Given the description of an element on the screen output the (x, y) to click on. 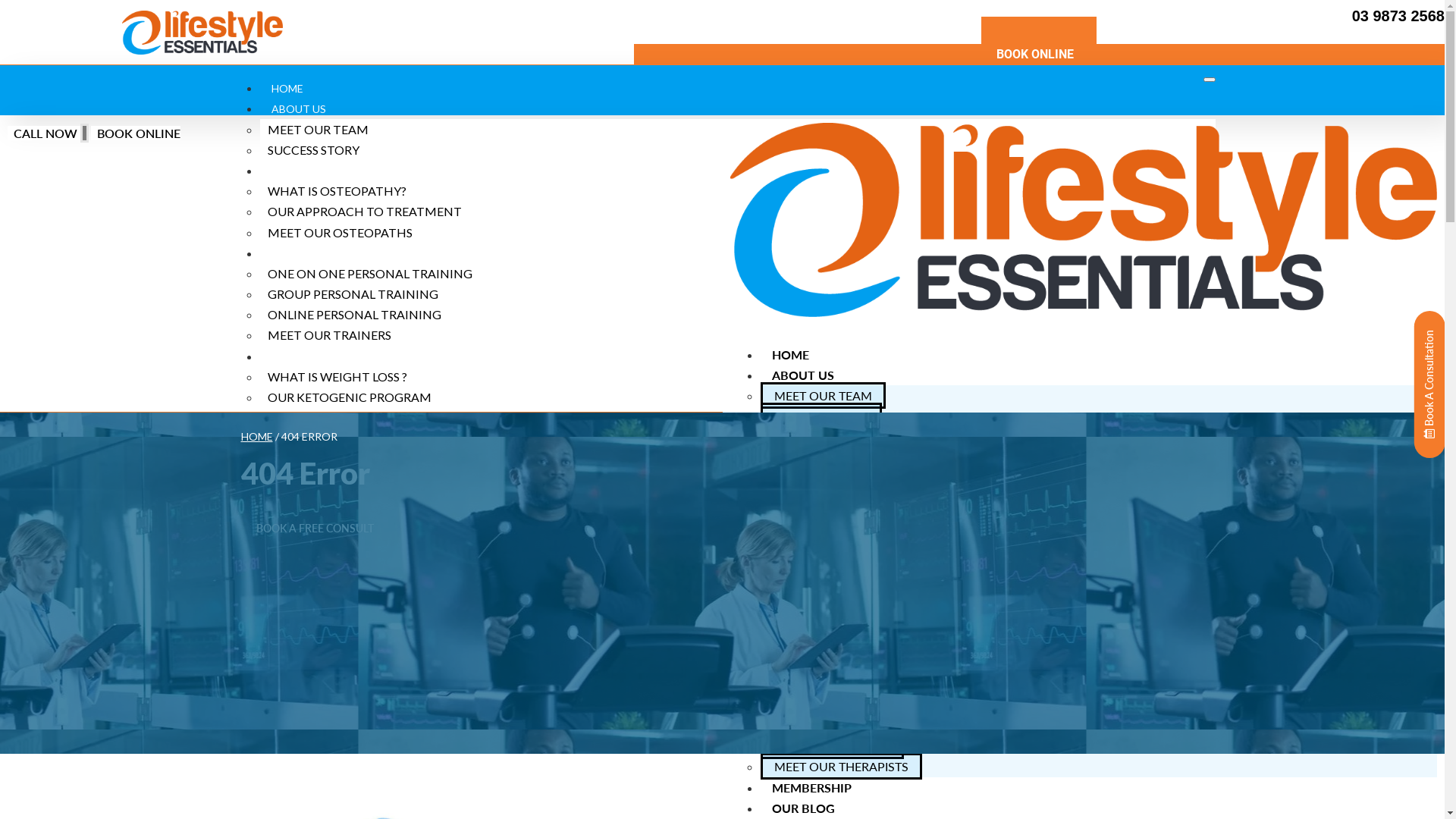
X Element type: text (238, 617)
OUR APPROACH TO TREATMENT Element type: text (866, 477)
ONLINE PERSONAL TRAINING Element type: text (353, 314)
GROUP PERSONAL TRAINING Element type: text (352, 293)
MEET OUR TEAM Element type: text (821, 395)
ONLINE PERSONAL TRAINING Element type: text (857, 580)
BOOK ONLINE Element type: text (135, 132)
MEET OUR TEAM Element type: text (317, 129)
SUCCESS STORY Element type: text (820, 415)
TYPES OF MASSAGE Element type: text (831, 745)
OUR APPROACH TO TREATMENT Element type: text (363, 210)
CALL NOW Element type: text (43, 132)
BOOK A FREE CONSULT Element type: text (318, 528)
BOOK ONLINE Element type: text (1038, 53)
OUR BLOG Element type: text (297, 541)
WHAT IS OSTEOPATHY? Element type: text (840, 457)
ABOUT US Element type: text (305, 108)
WHAT IS REMEDIAL MASSAGE Element type: text (352, 458)
ONE ON ONE PERSONAL TRAINING Element type: text (873, 539)
MEET OUR TRAINERS Element type: text (328, 334)
Book A Consultation Element type: text (1429, 384)
HOME Element type: text (789, 354)
WHAT IS WEIGHT LOSS ? Element type: text (843, 642)
MEMBERSHIP Element type: text (810, 787)
MEET OUR THERAPISTS Element type: text (840, 766)
SUCCESS STORY Element type: text (312, 149)
WEIGHT LOSS Element type: text (817, 622)
PERSONAL TRAINING Element type: text (333, 253)
GENETIC WEIGHT LOSS PROGRAM Element type: text (366, 417)
HOME Element type: text (286, 88)
MEET OUR OSTEOPATHS Element type: text (339, 231)
ABOUT US Element type: text (807, 374)
GENETIC WEIGHT LOSS PROGRAM Element type: text (871, 684)
OSTEOPATHY Element type: text (314, 170)
TYPES OF MASSAGE Element type: text (324, 479)
ONE ON ONE PERSONAL TRAINING Element type: text (369, 273)
03 9873 2568 Element type: text (1398, 15)
WHAT IS REMEDIAL MASSAGE Element type: text (859, 725)
OUR BLOG Element type: text (802, 807)
MEET OUR THERAPISTS Element type: text (335, 499)
MEET OUR TRAINERS Element type: text (833, 601)
OSTEOPATHY Element type: text (816, 436)
OUR KETOGENIC PROGRAM Element type: text (348, 396)
MEMBERSHIP Element type: text (304, 521)
GROUP PERSONAL TRAINING Element type: text (856, 560)
MASSAGE Element type: text (805, 704)
CONTACT US Element type: text (305, 563)
WHAT IS WEIGHT LOSS ? Element type: text (336, 376)
OUR KETOGENIC PROGRAM Element type: text (853, 663)
MEET OUR OSTEOPATHS Element type: text (843, 498)
HOME Element type: text (257, 435)
MASSAGE Element type: text (303, 438)
WEIGHT LOSS Element type: text (314, 356)
PERSONAL TRAINING Element type: text (838, 518)
WHAT IS OSTEOPATHY? Element type: text (336, 190)
